Given the description of an element on the screen output the (x, y) to click on. 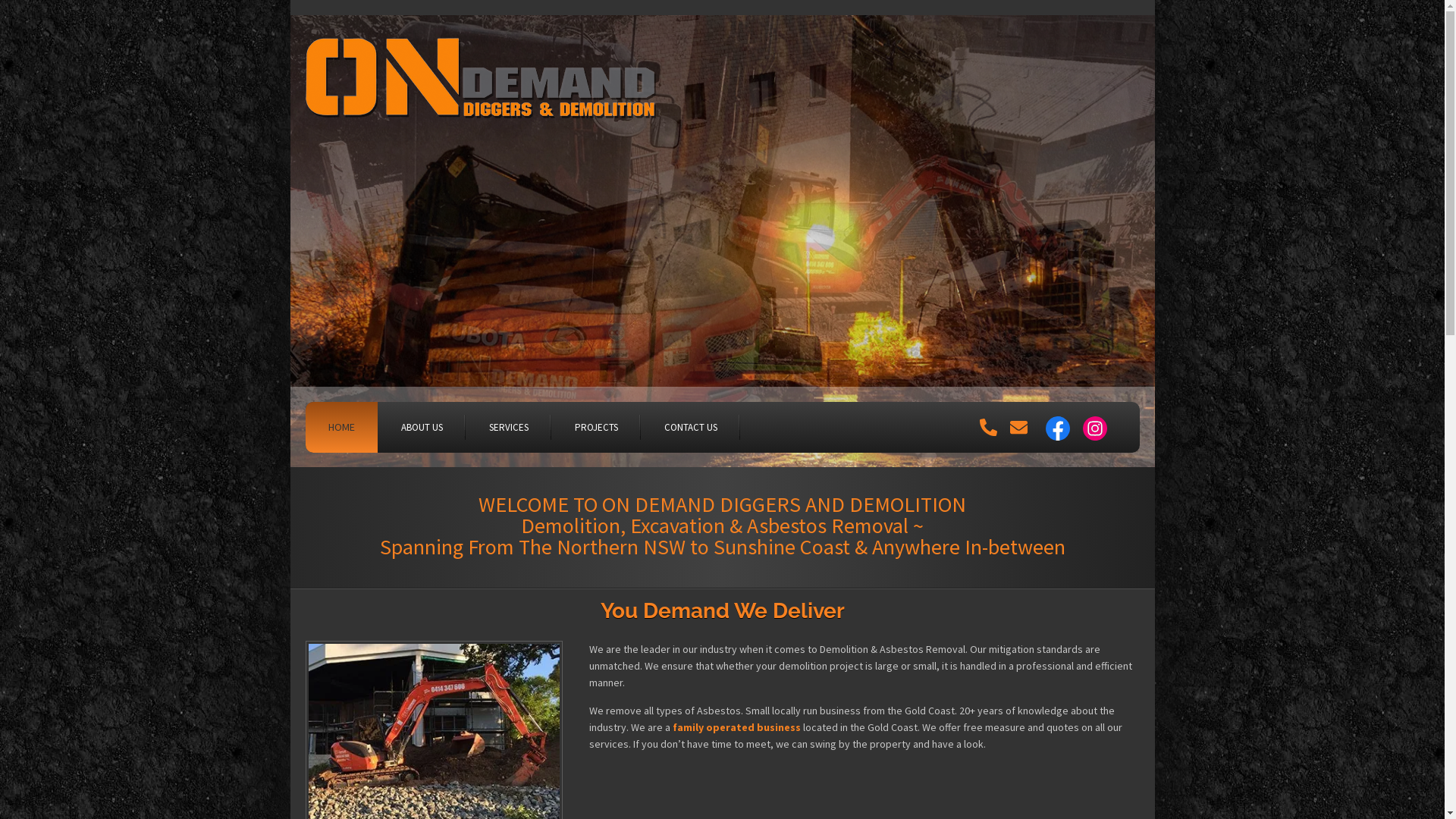
PROJECTS Element type: text (596, 426)
SERVICES Element type: text (507, 426)
Find Us On Facebook Element type: hover (1057, 428)
Follow Us On Instagram Element type: hover (1094, 428)
HOME Element type: text (340, 426)
ABOUT US Element type: text (420, 426)
On Demand Diggers & Demolitions Element type: hover (482, 82)
CONTACT US Element type: text (690, 426)
